Given the description of an element on the screen output the (x, y) to click on. 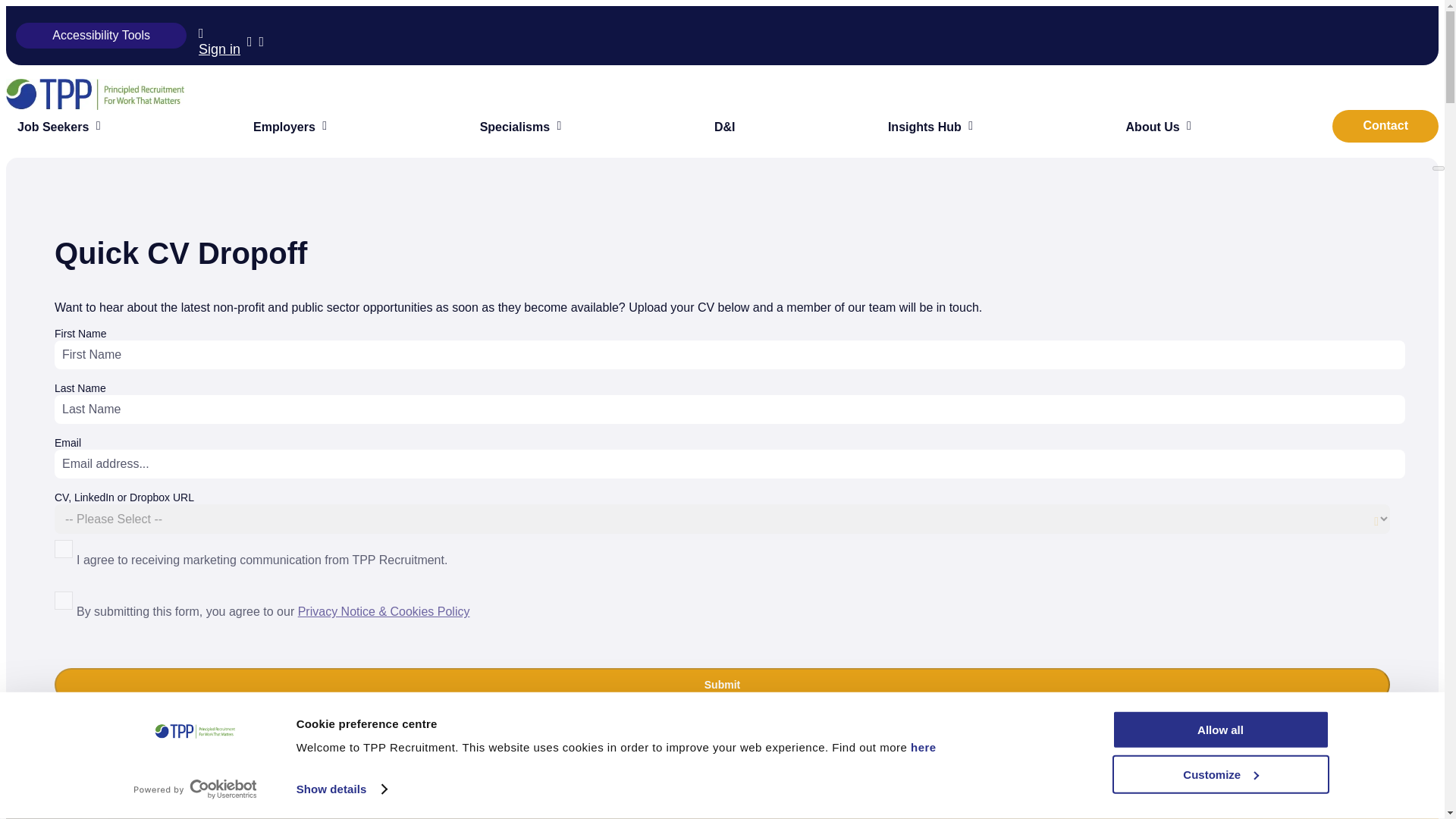
Show details (341, 789)
Submit (722, 684)
here (921, 747)
